Given the description of an element on the screen output the (x, y) to click on. 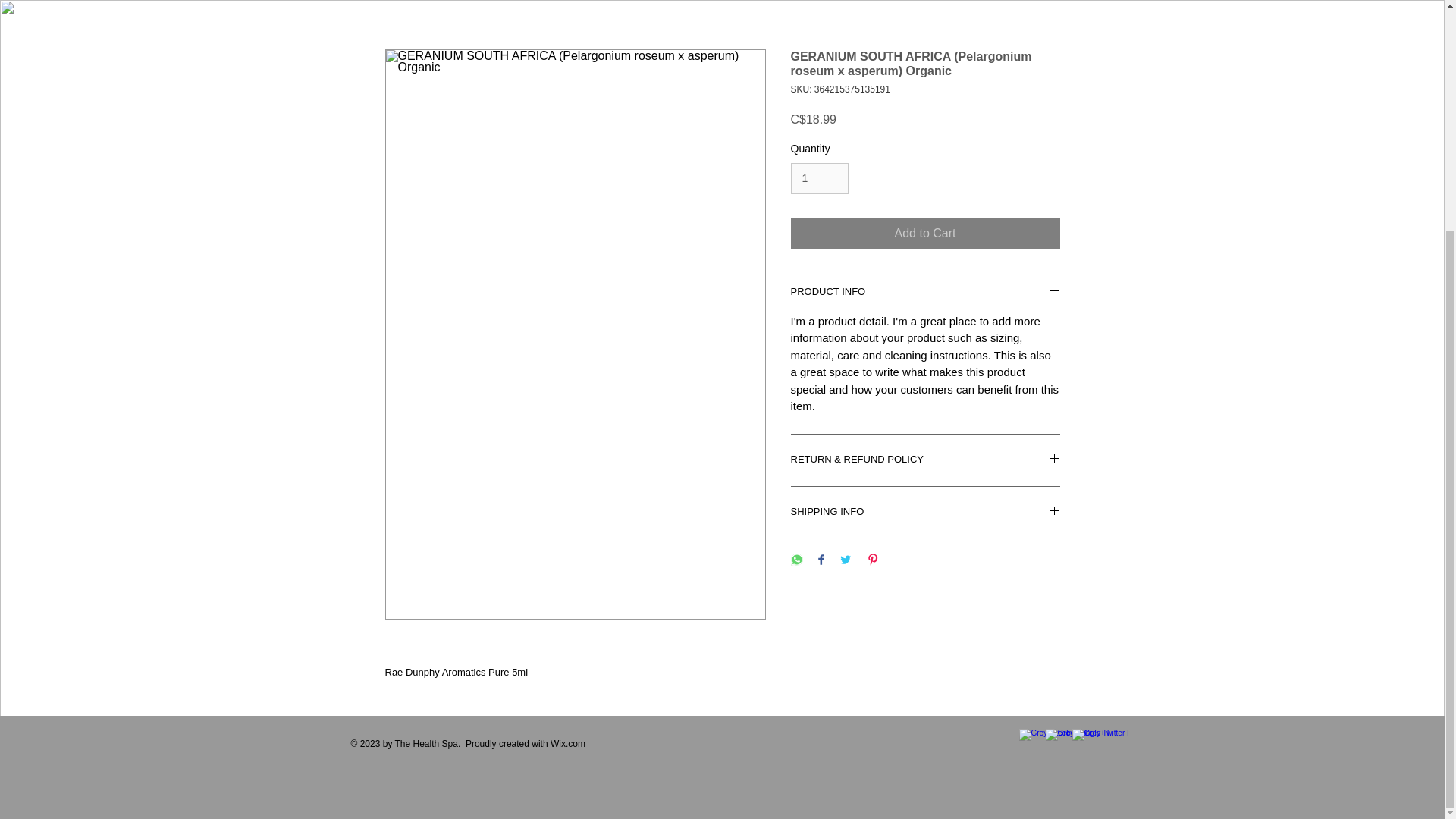
PRODUCT INFO (924, 292)
Wix.com (567, 743)
SHIPPING INFO (924, 512)
Add to Cart (924, 233)
1 (818, 178)
